Given the description of an element on the screen output the (x, y) to click on. 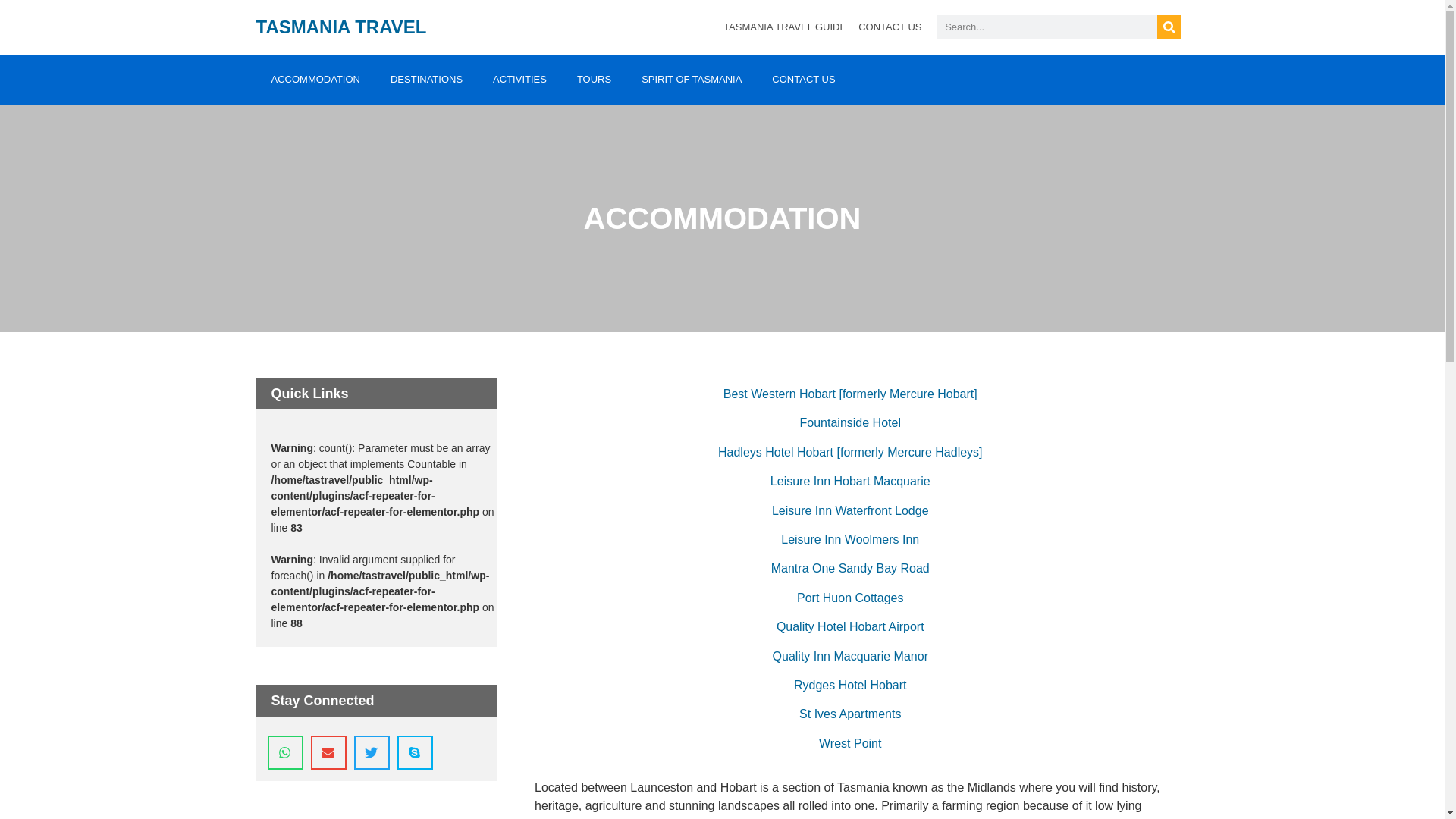
TASMANIA TRAVEL (341, 26)
DESTINATIONS (426, 79)
ACCOMMODATION (315, 79)
